Given the description of an element on the screen output the (x, y) to click on. 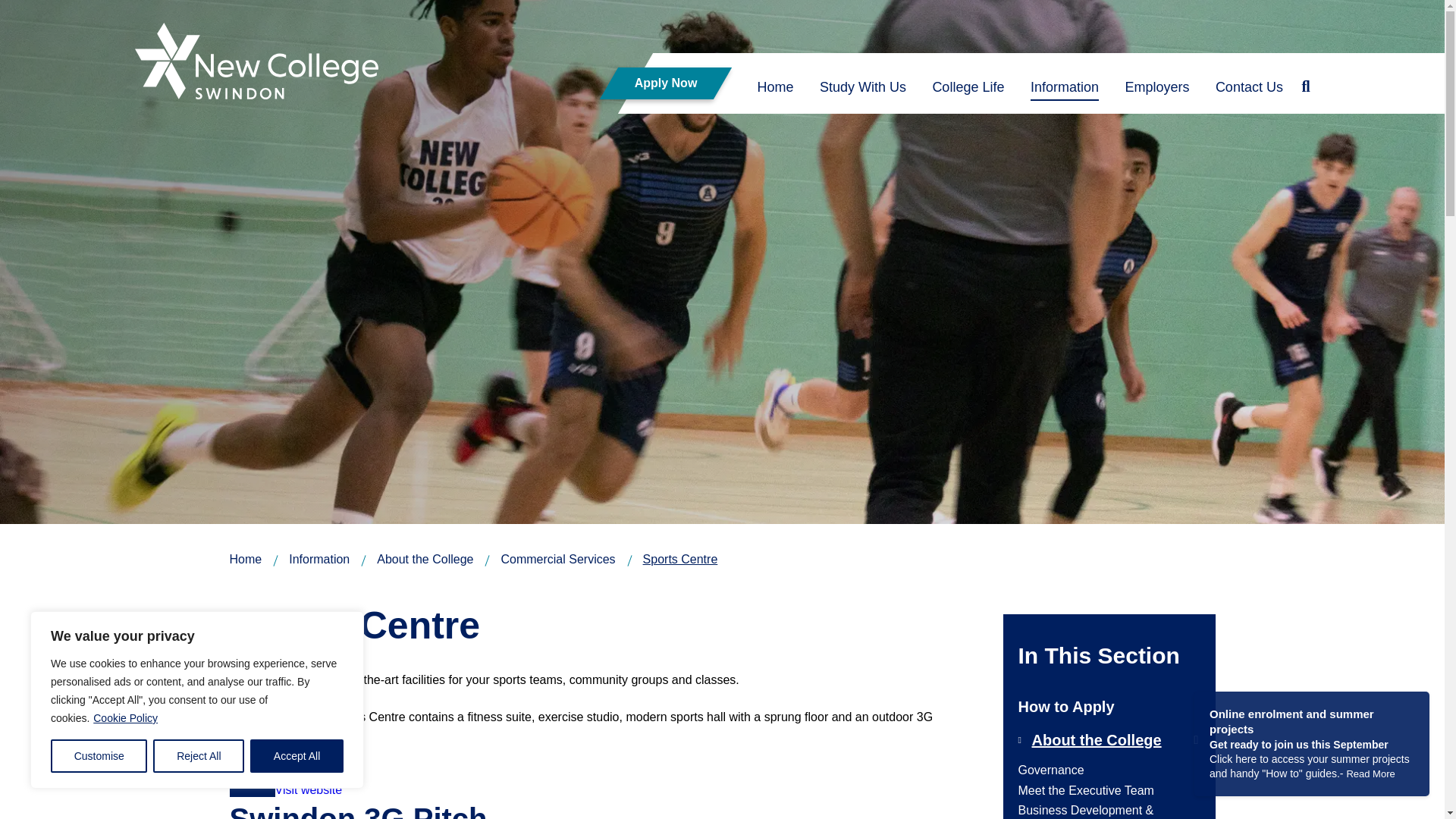
Employers (1156, 90)
Accept All (296, 756)
Apply Now (656, 83)
Study With Us (862, 90)
Home (775, 90)
College Life (967, 90)
Contact Us (1248, 90)
Reject All (198, 756)
Customise (98, 756)
Information (1064, 90)
